Given the description of an element on the screen output the (x, y) to click on. 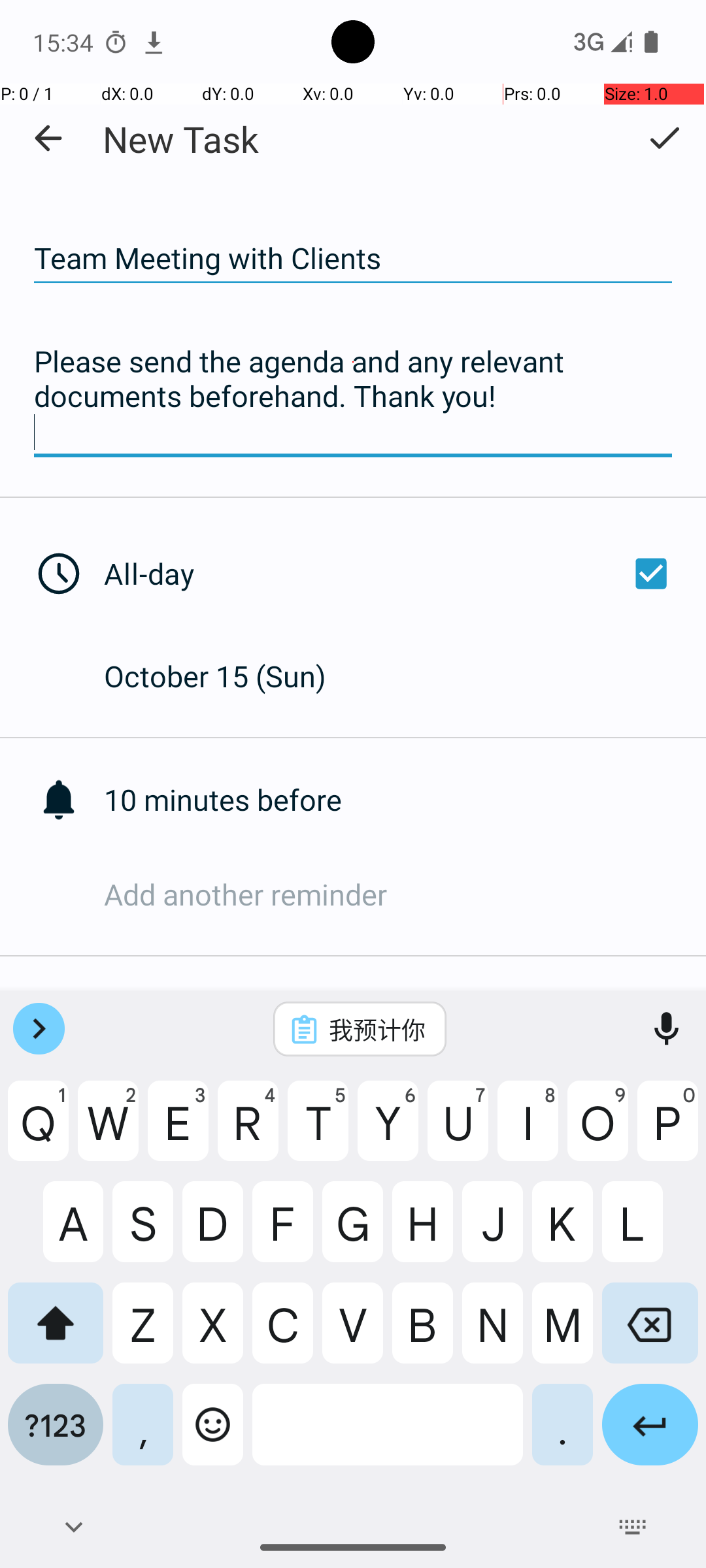
Team Meeting with Clients Element type: android.widget.EditText (352, 258)
Please send the agenda and any relevant documents beforehand. Thank you!
 Element type: android.widget.EditText (352, 396)
我预计你 Element type: android.widget.TextView (376, 1028)
